Given the description of an element on the screen output the (x, y) to click on. 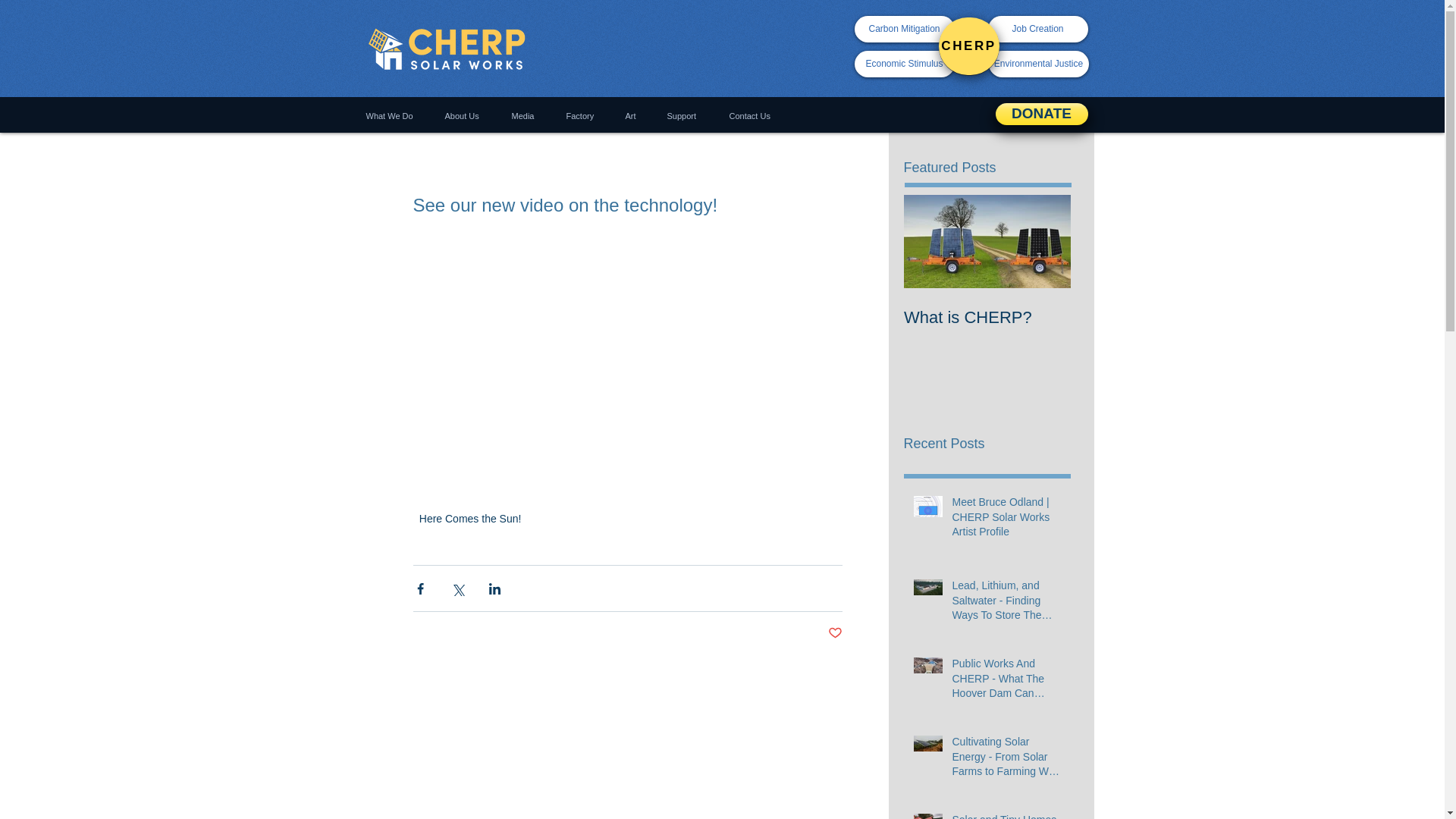
Contact Us (750, 116)
CHERP (968, 46)
Job Creation (1037, 28)
Post not marked as liked (835, 633)
Solar and Tiny Homes (1006, 816)
Environmental Justice (1038, 63)
Carbon Mitigation (903, 28)
Economic Stimulus (903, 63)
DONATE (1040, 114)
Public Works And CHERP - What The Hoover Dam Can Teach Us (1006, 681)
